Given the description of an element on the screen output the (x, y) to click on. 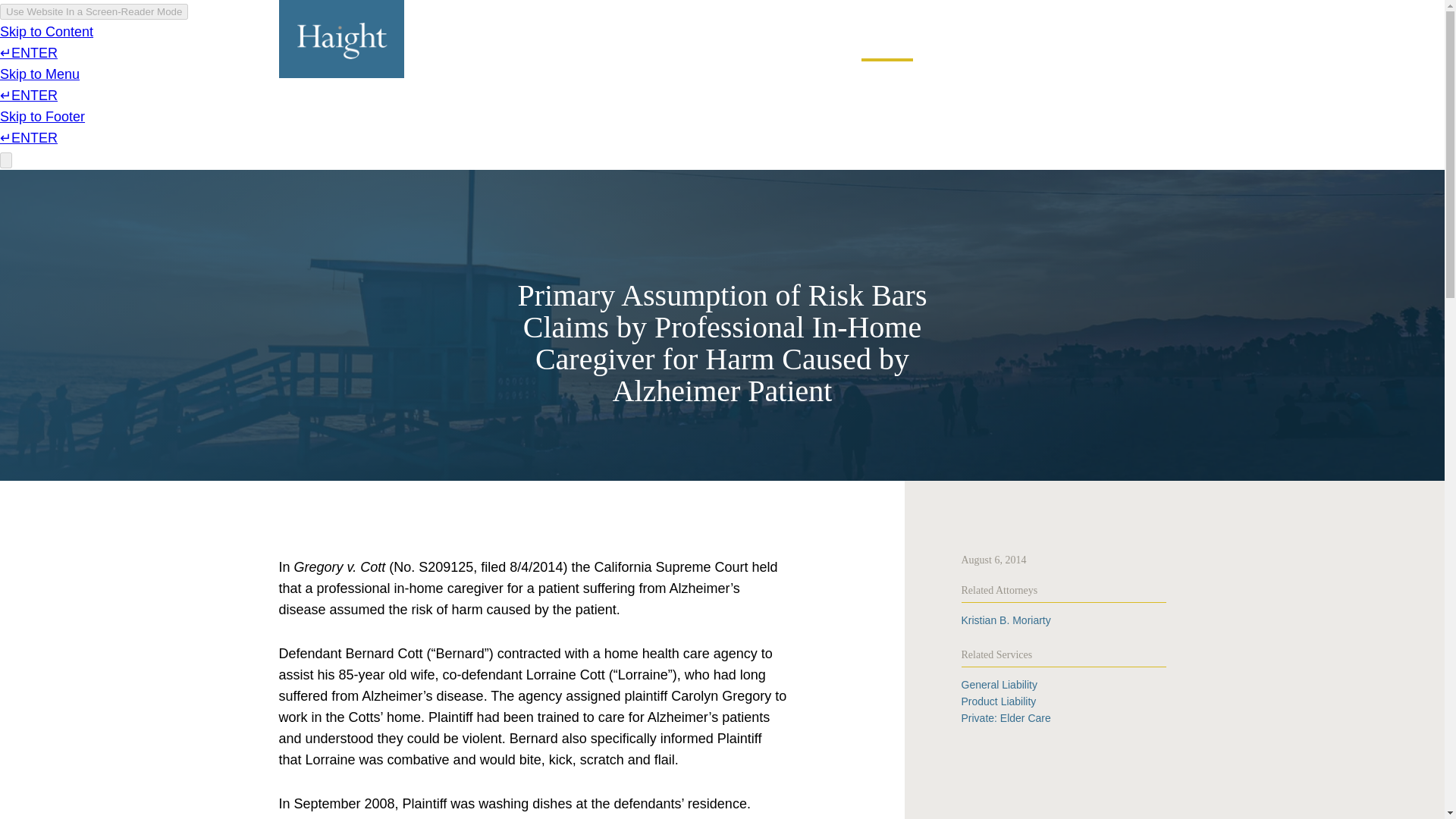
subscribe (949, 12)
Successes (810, 43)
PRINT (1006, 12)
Insights (887, 43)
Private: (1005, 717)
CONTACT (1140, 12)
EMAIL (1089, 12)
General (998, 684)
SUBSCRIBE (949, 12)
Kristian B. Moriarty (1005, 620)
Rss (1047, 12)
Product Liability (998, 701)
Contact (1140, 12)
Email (1089, 12)
General Liability (998, 684)
